Given the description of an element on the screen output the (x, y) to click on. 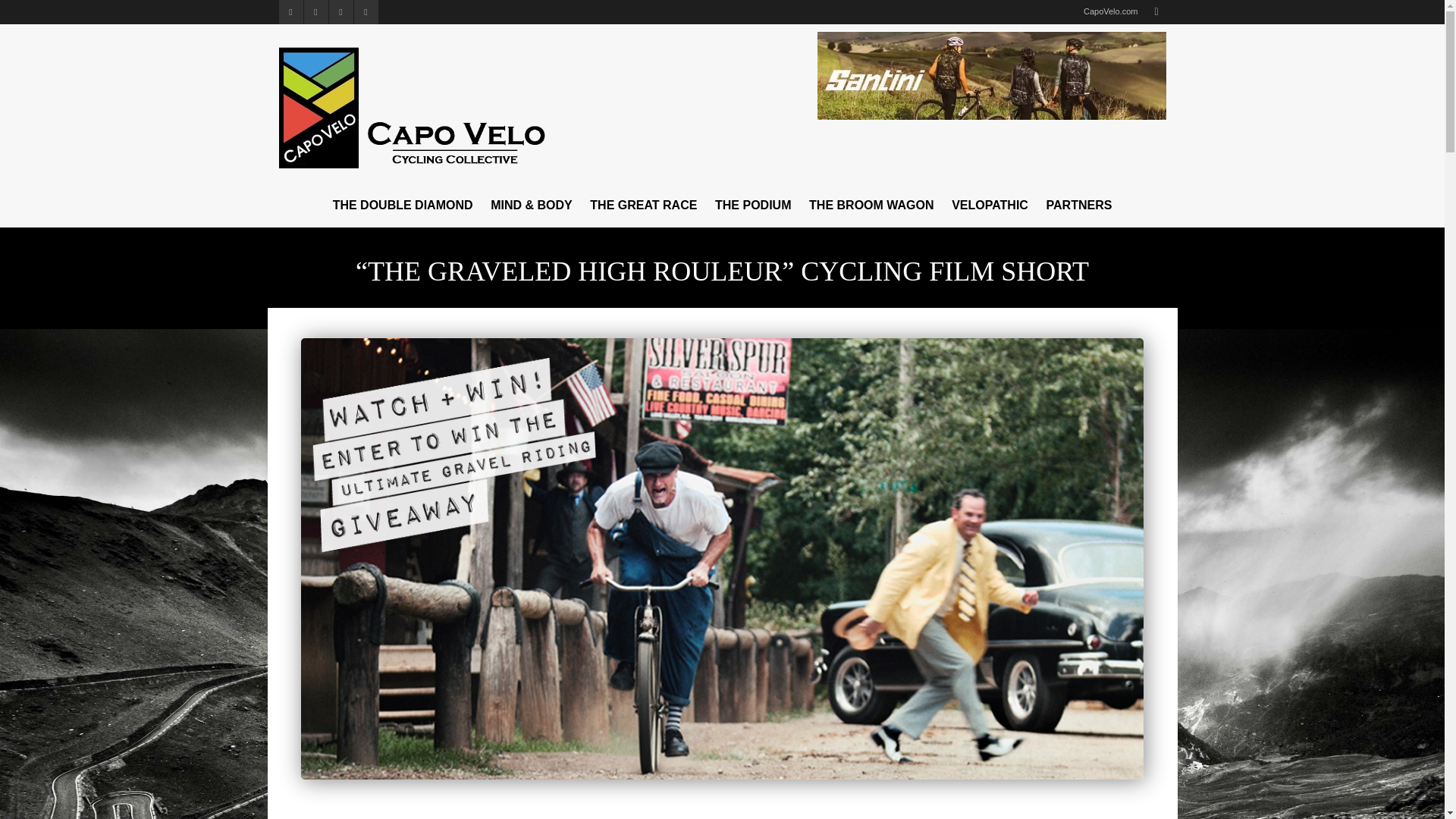
Click here to search (1156, 12)
Pinterest (341, 12)
Instagram (365, 12)
Facebook (314, 12)
THE DOUBLE DIAMOND (402, 205)
Twitter (290, 12)
THE GREAT RACE (643, 205)
